Given the description of an element on the screen output the (x, y) to click on. 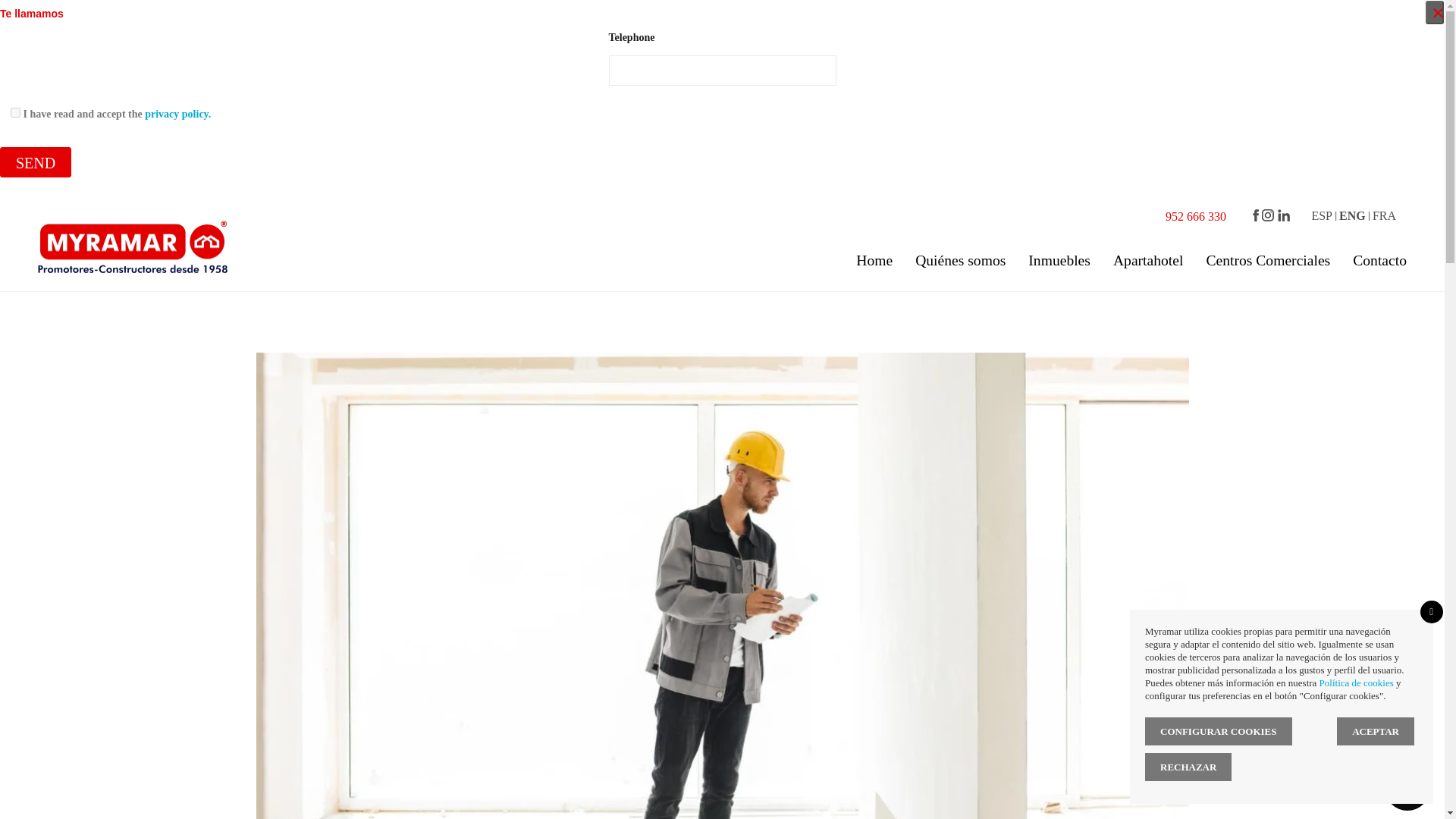
ESP (1325, 215)
privacy policy. (177, 113)
Apartahotel (1148, 260)
Home (874, 260)
Send (35, 162)
952 666 330 (1195, 215)
Inmuebles (1059, 260)
1 (15, 112)
Send (35, 162)
ENG (1356, 215)
FRA (1385, 215)
